Given the description of an element on the screen output the (x, y) to click on. 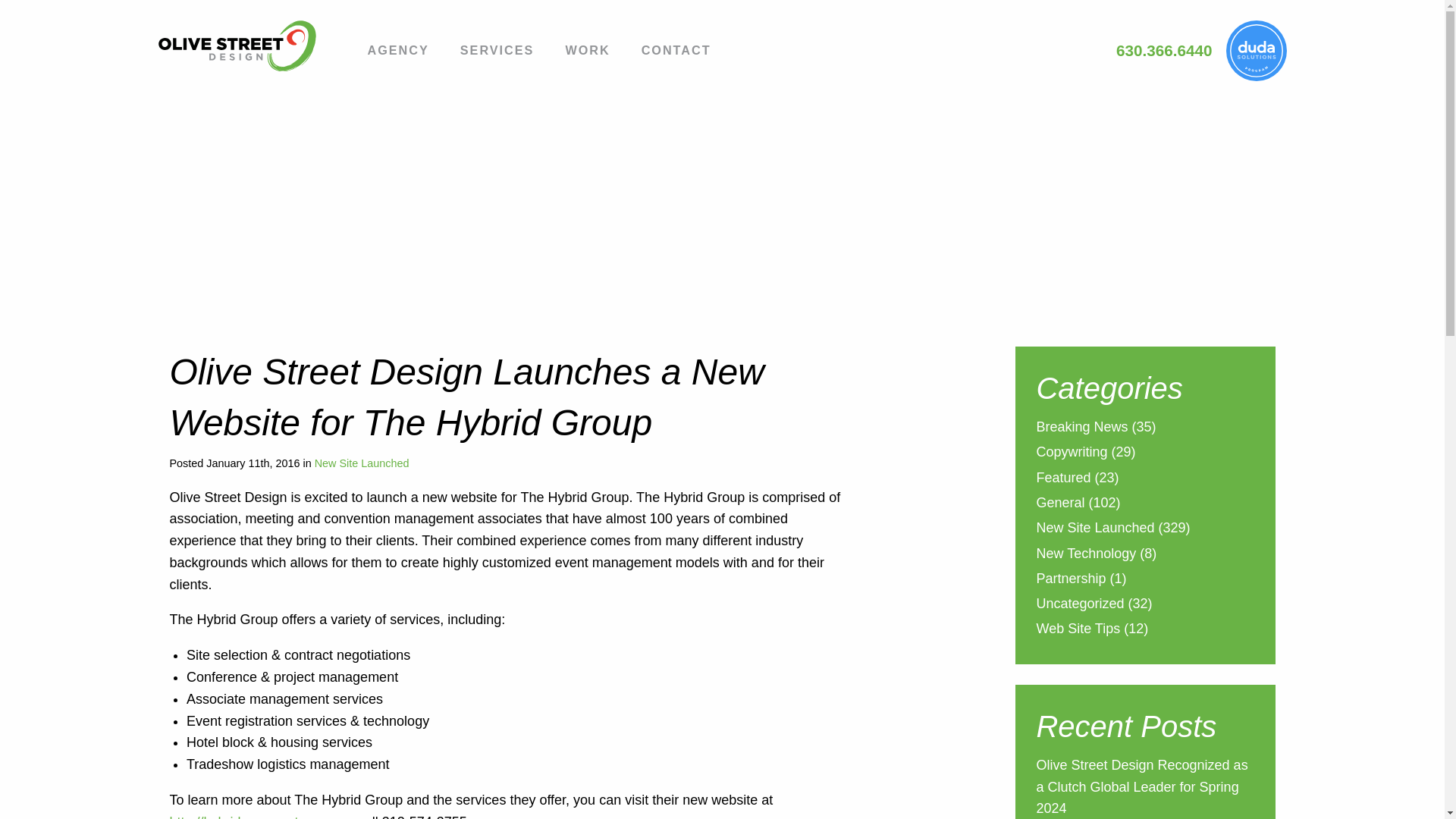
AGENCY (397, 52)
Copywriting (1070, 453)
630.366.6440 (1164, 49)
Breaking News (1080, 428)
Uncategorized (1079, 605)
CONTACT (676, 52)
Featured (1062, 479)
SERVICES (497, 52)
General (1059, 504)
Web Site Tips (1077, 629)
New Technology (1085, 555)
WORK (587, 52)
Olive Street Design (248, 45)
New Site Launched (361, 463)
Partnership (1070, 579)
